Given the description of an element on the screen output the (x, y) to click on. 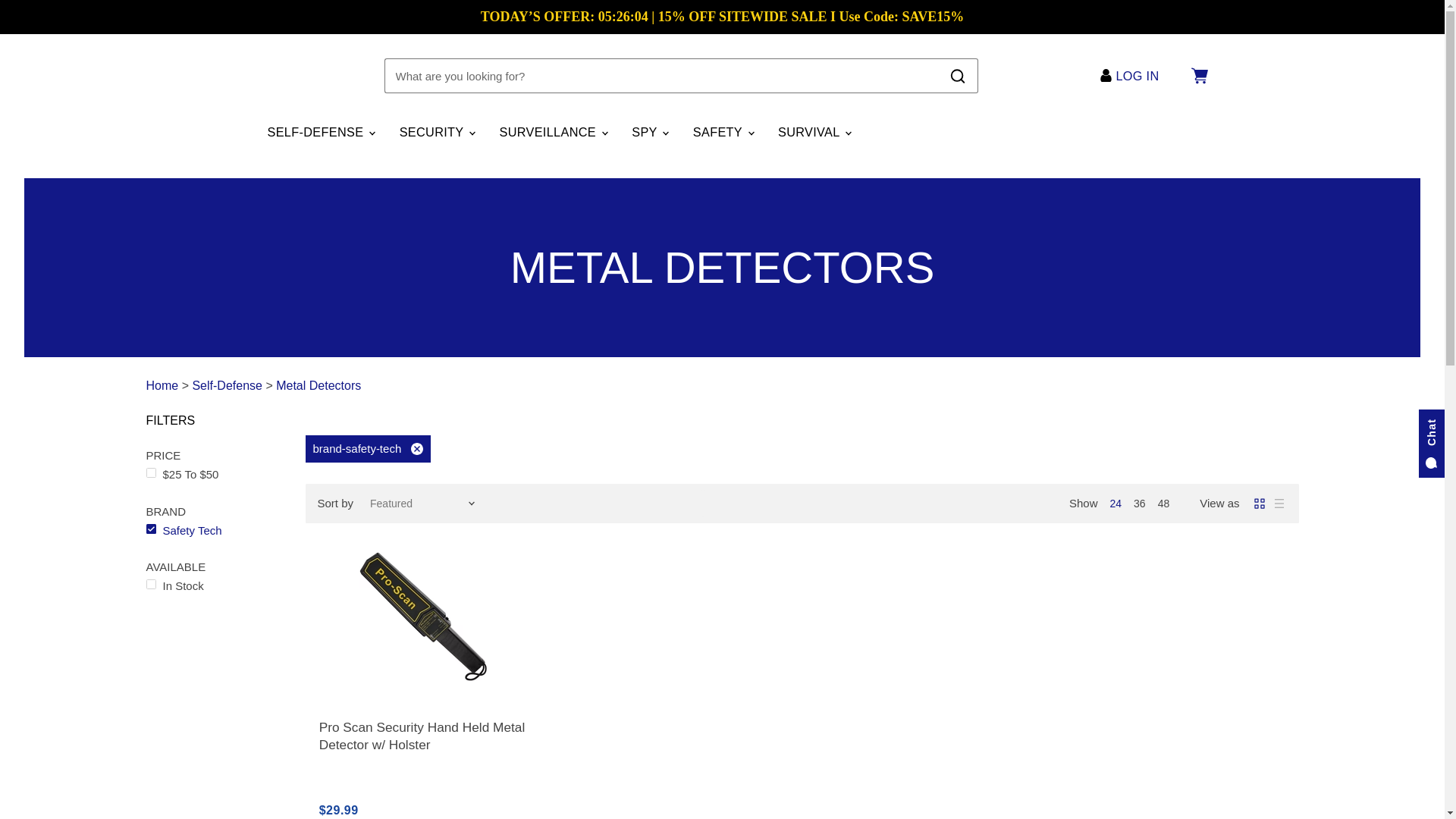
Remove tag brand-safety-tech (215, 529)
Remove tag brand-safety-tech (367, 448)
List icon (1278, 503)
SELF-DEFENSE (320, 132)
ACCOUNT ICON LOG IN (1133, 75)
Grid icon (1258, 503)
View cart (1199, 75)
ACCOUNT ICON (1105, 74)
Narrow selection to products matching tag avail-in-stock (215, 585)
